Given the description of an element on the screen output the (x, y) to click on. 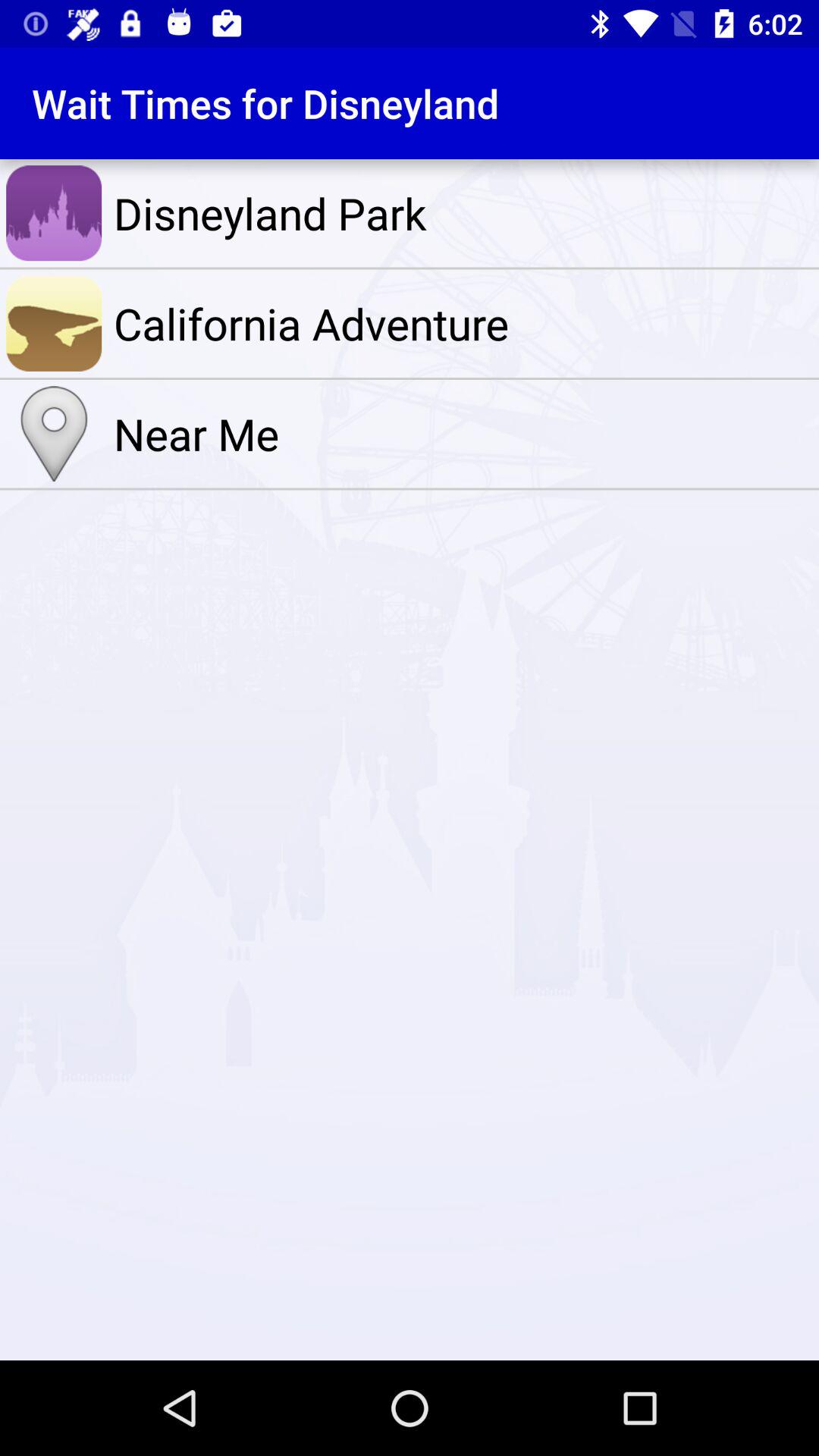
open item below the wait times for (462, 213)
